Given the description of an element on the screen output the (x, y) to click on. 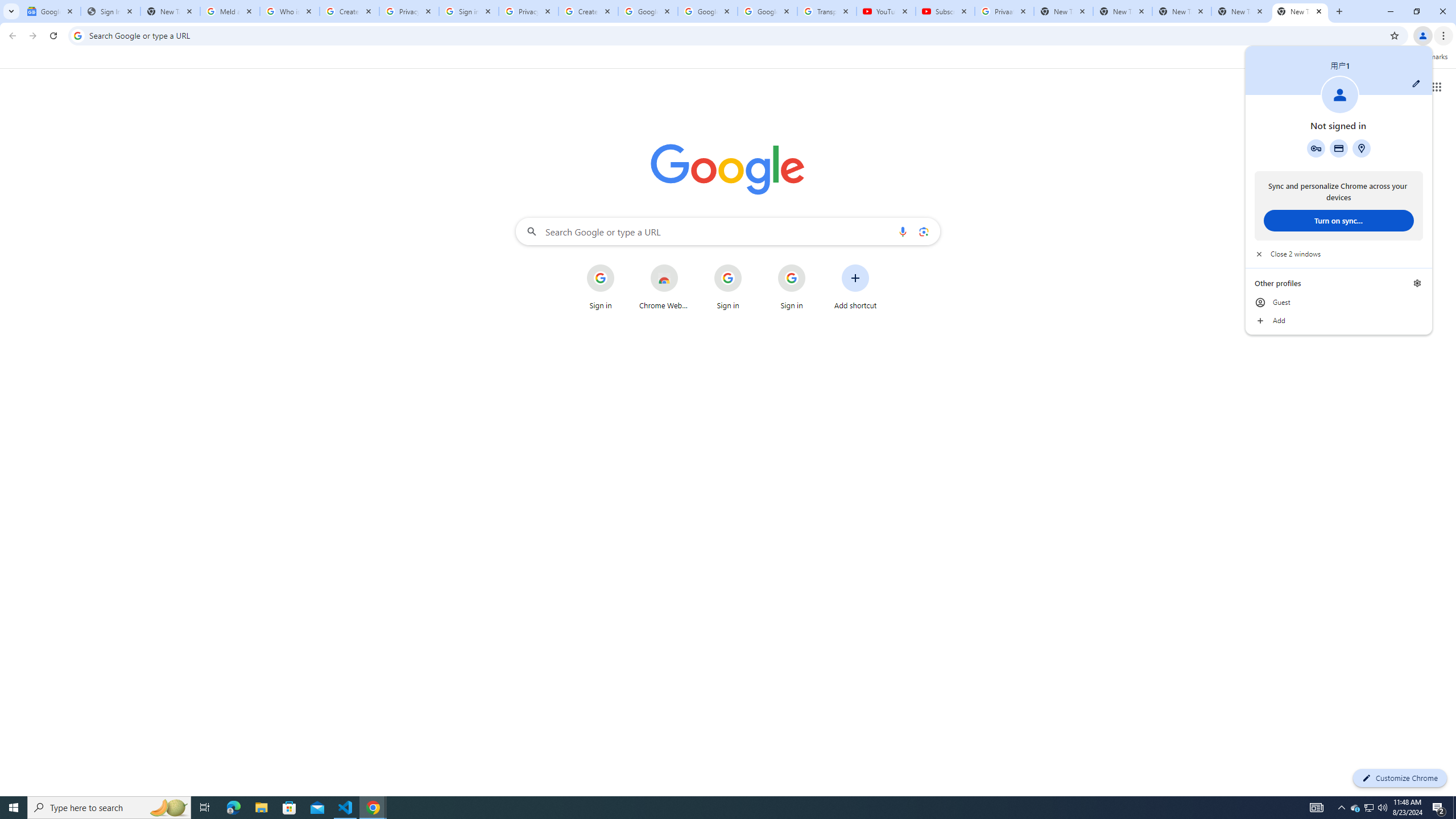
Type here to search (108, 807)
Task View (204, 807)
Chrome Web Store (663, 287)
Subscriptions - YouTube (944, 11)
